Given the description of an element on the screen output the (x, y) to click on. 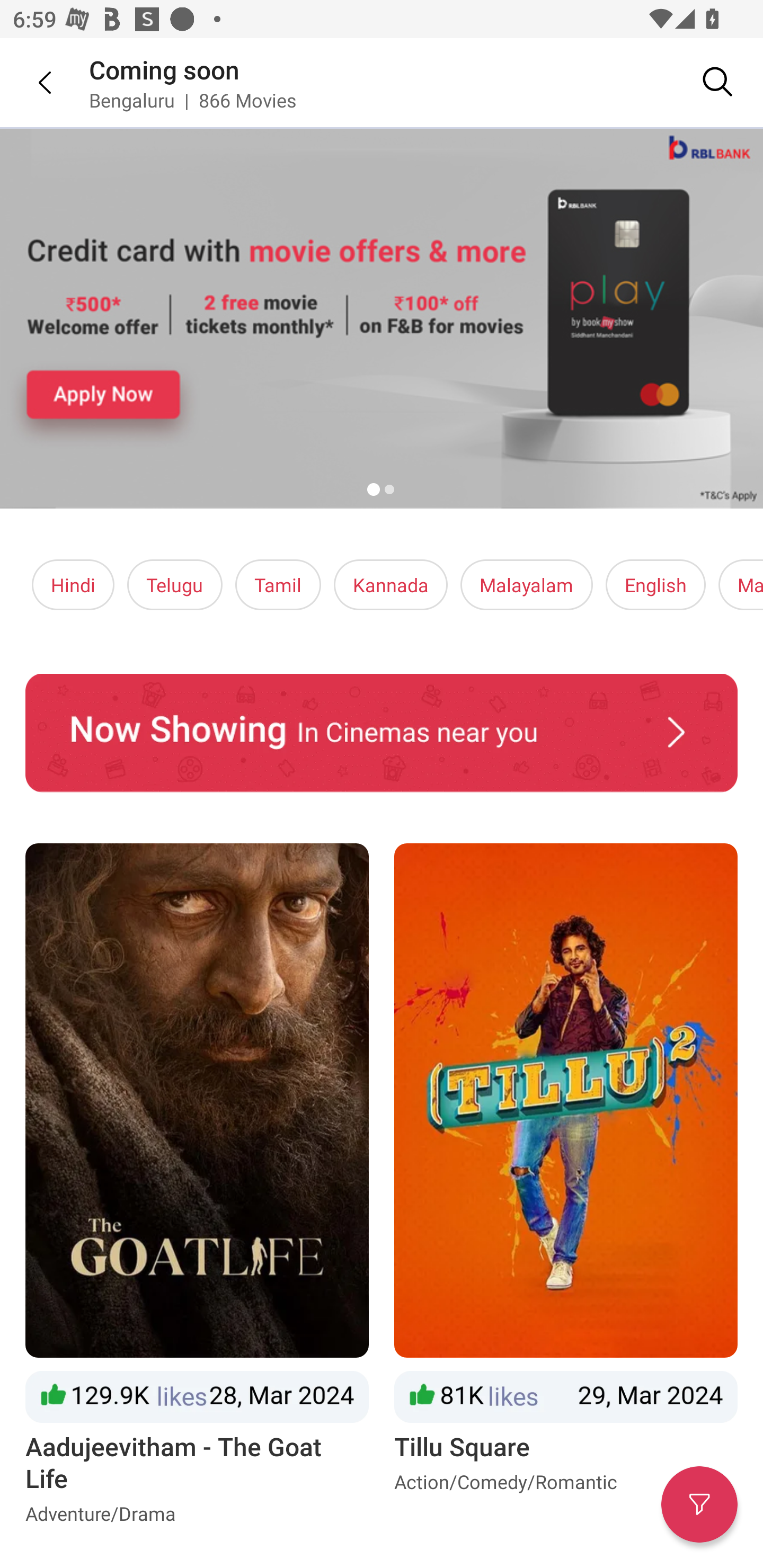
Back (31, 82)
Coming soon (164, 68)
Bengaluru  |  866 Movies (192, 99)
Hindi (73, 584)
Telugu (174, 584)
Tamil (278, 584)
Kannada (390, 584)
Malayalam (526, 584)
English (655, 584)
Aadujeevitham - The Goat Life Adventure/Drama (196, 1187)
Tillu Square Action/Comedy/Romantic (565, 1187)
Filter (699, 1504)
